Given the description of an element on the screen output the (x, y) to click on. 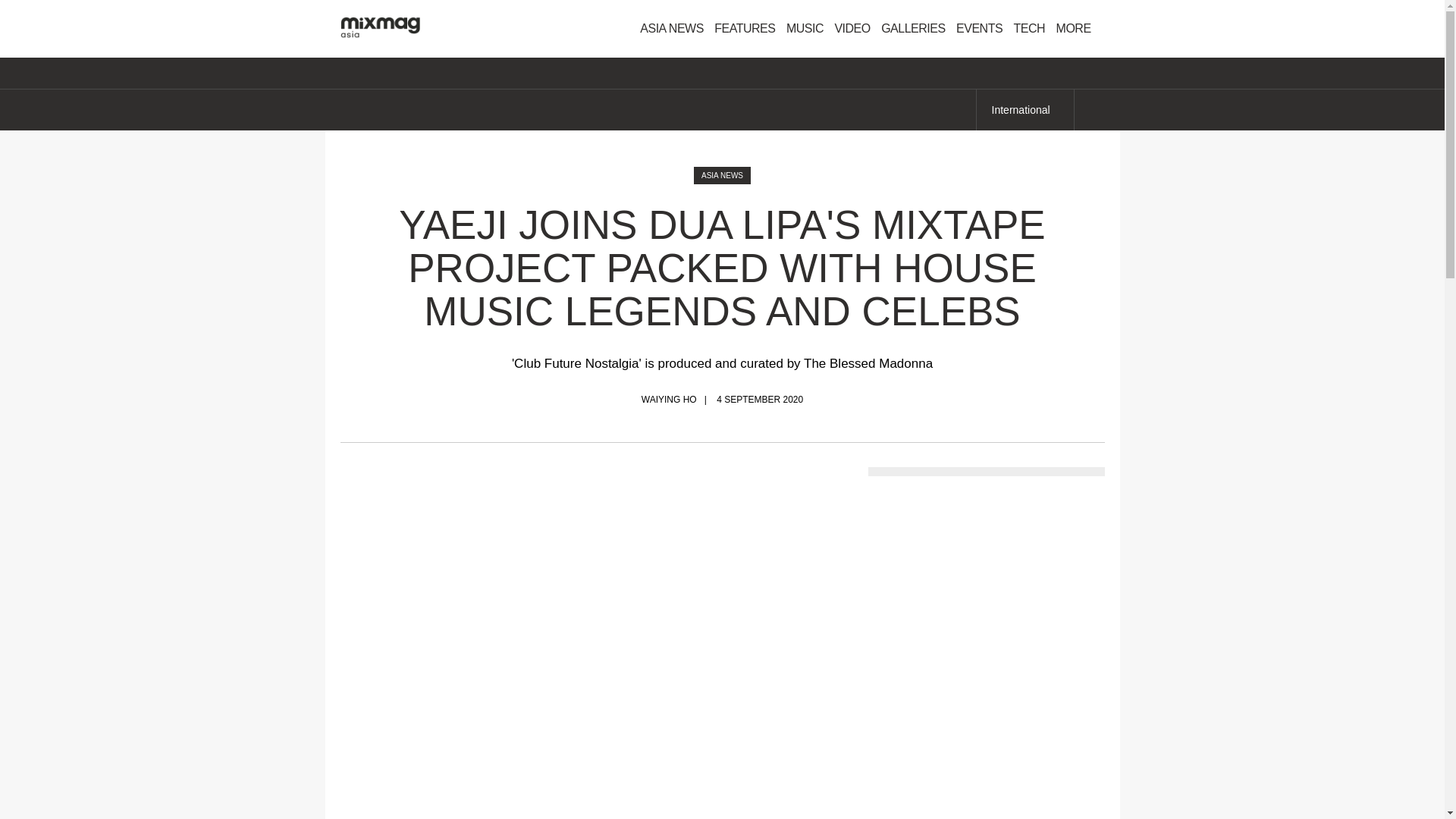
ASIA NEWS (671, 28)
EVENTS (978, 28)
GALLERIES (913, 28)
MORE (1078, 28)
FEATURES (744, 28)
VIDEO (851, 28)
MUSIC (804, 28)
TECH (1030, 28)
